Given the description of an element on the screen output the (x, y) to click on. 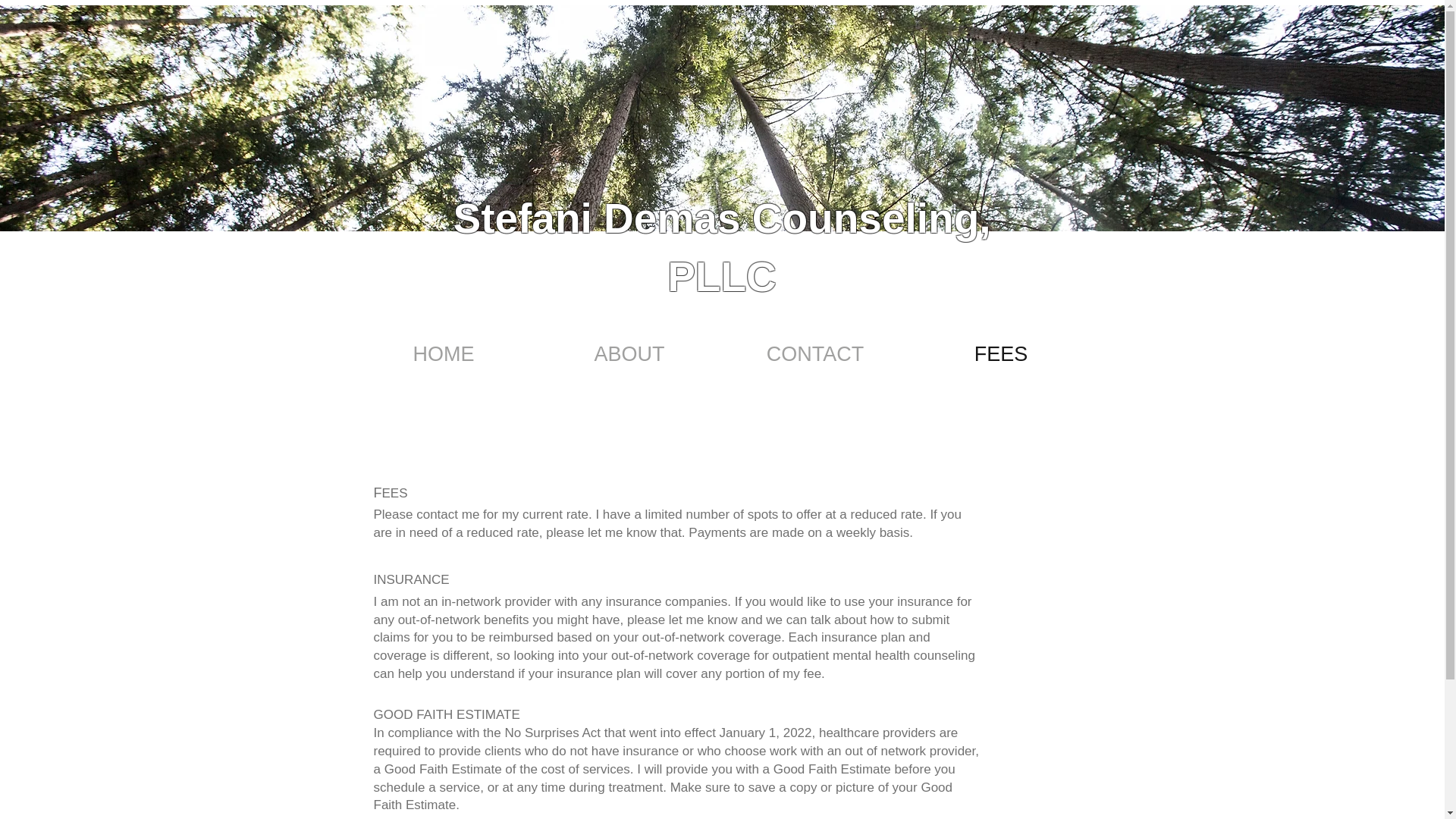
ABOUT (629, 351)
CONTACT (814, 351)
HOME (442, 351)
FEES (1001, 351)
